Given the description of an element on the screen output the (x, y) to click on. 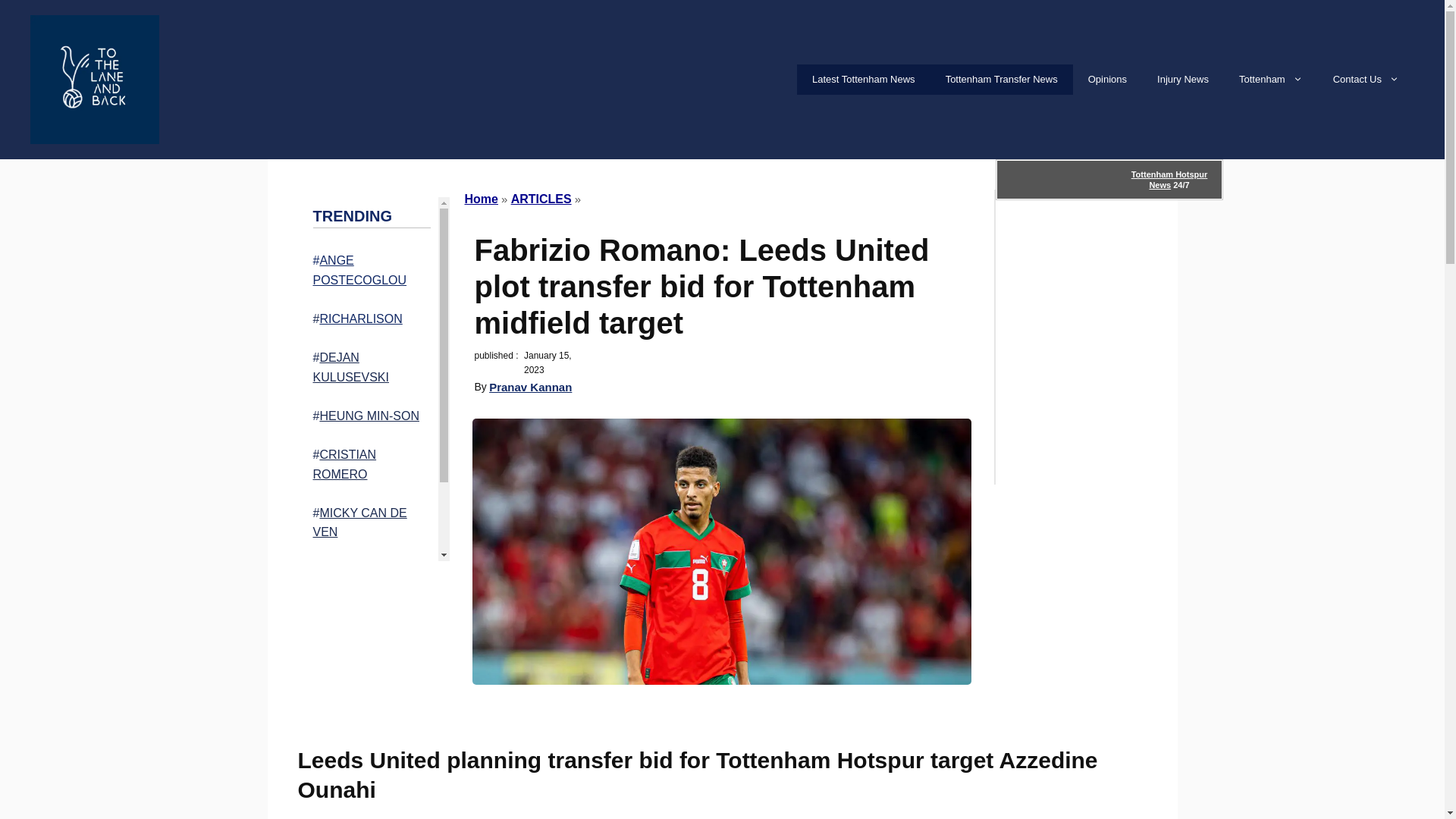
Tottenham (1270, 79)
CRISTIAN ROMERO (344, 463)
ARTICLES (541, 198)
Pranav Kannan (530, 386)
Click here for more Tottenham Hotspur news from NewsNow (1108, 178)
Injury News (1182, 79)
RICHARLISON (359, 318)
Opinions (1107, 79)
Tottenham Transfer News (1001, 79)
ANGE POSTECOGLOU (359, 269)
